Given the description of an element on the screen output the (x, y) to click on. 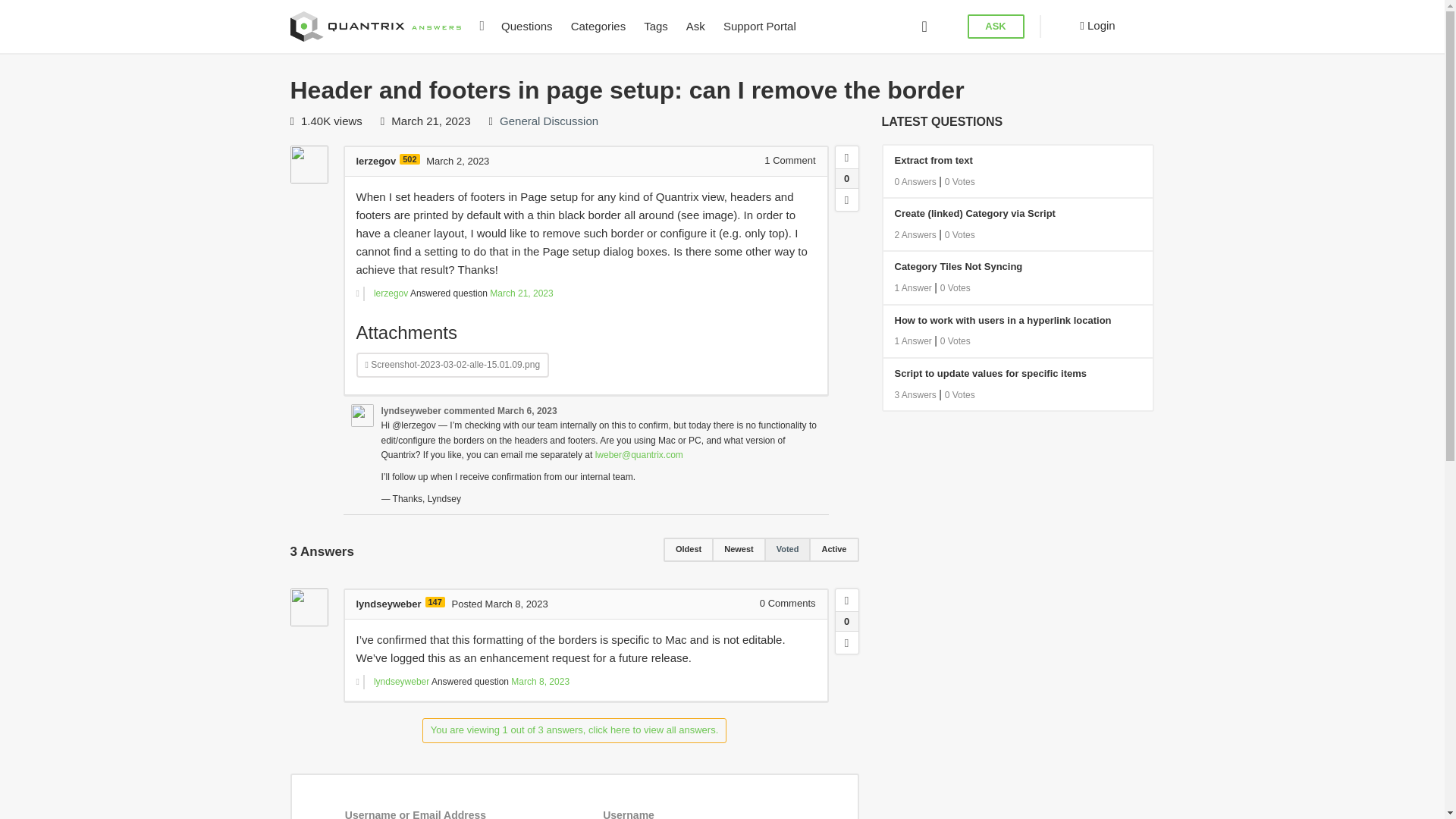
Categories (598, 26)
Down vote this post (847, 199)
Categories (598, 26)
Ask (695, 26)
Up vote this post (847, 599)
ASK (996, 26)
Tags (655, 26)
Down vote this post (847, 641)
Download file (453, 364)
Reputation (408, 158)
